Given the description of an element on the screen output the (x, y) to click on. 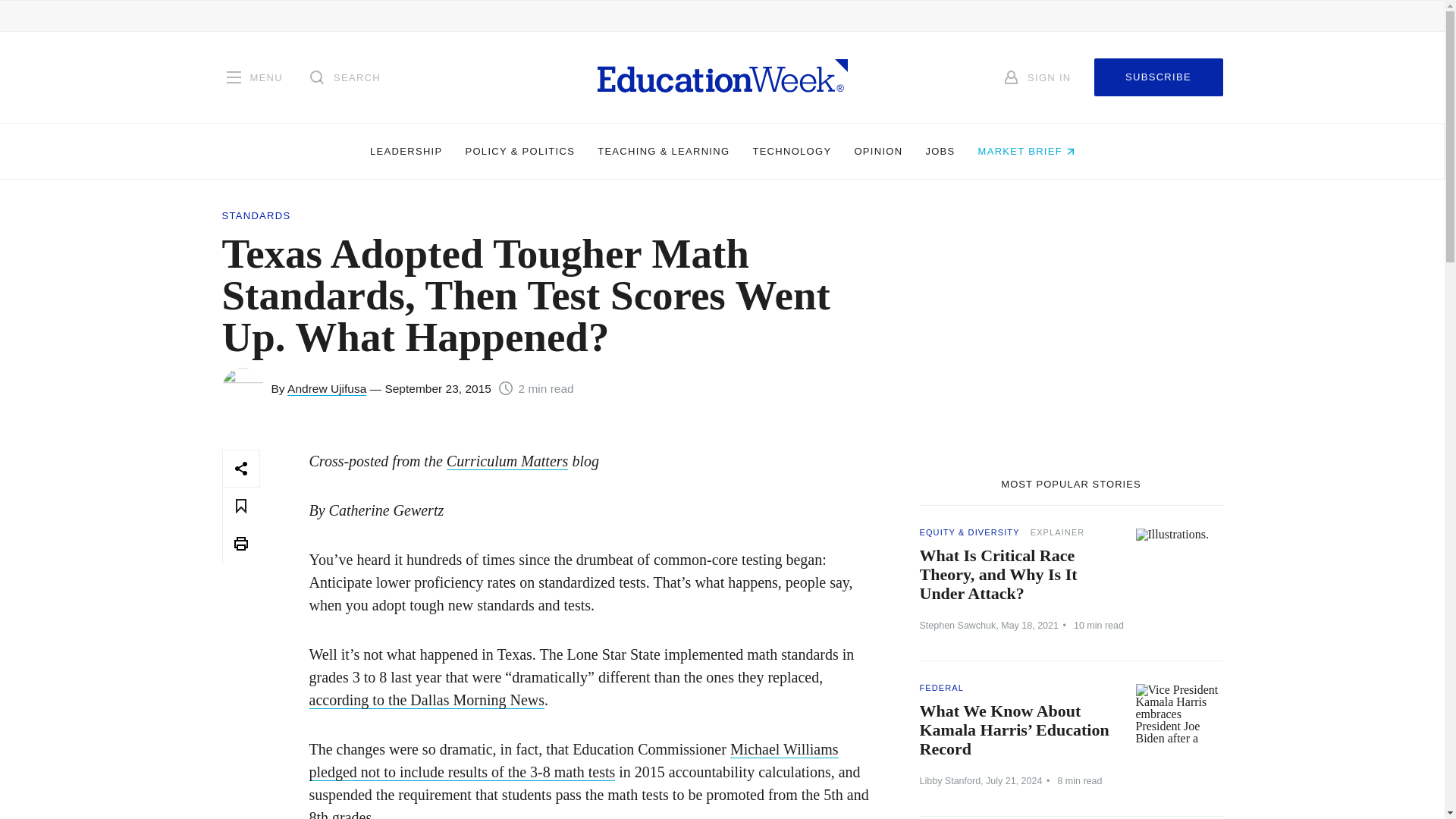
Homepage (721, 76)
